Given the description of an element on the screen output the (x, y) to click on. 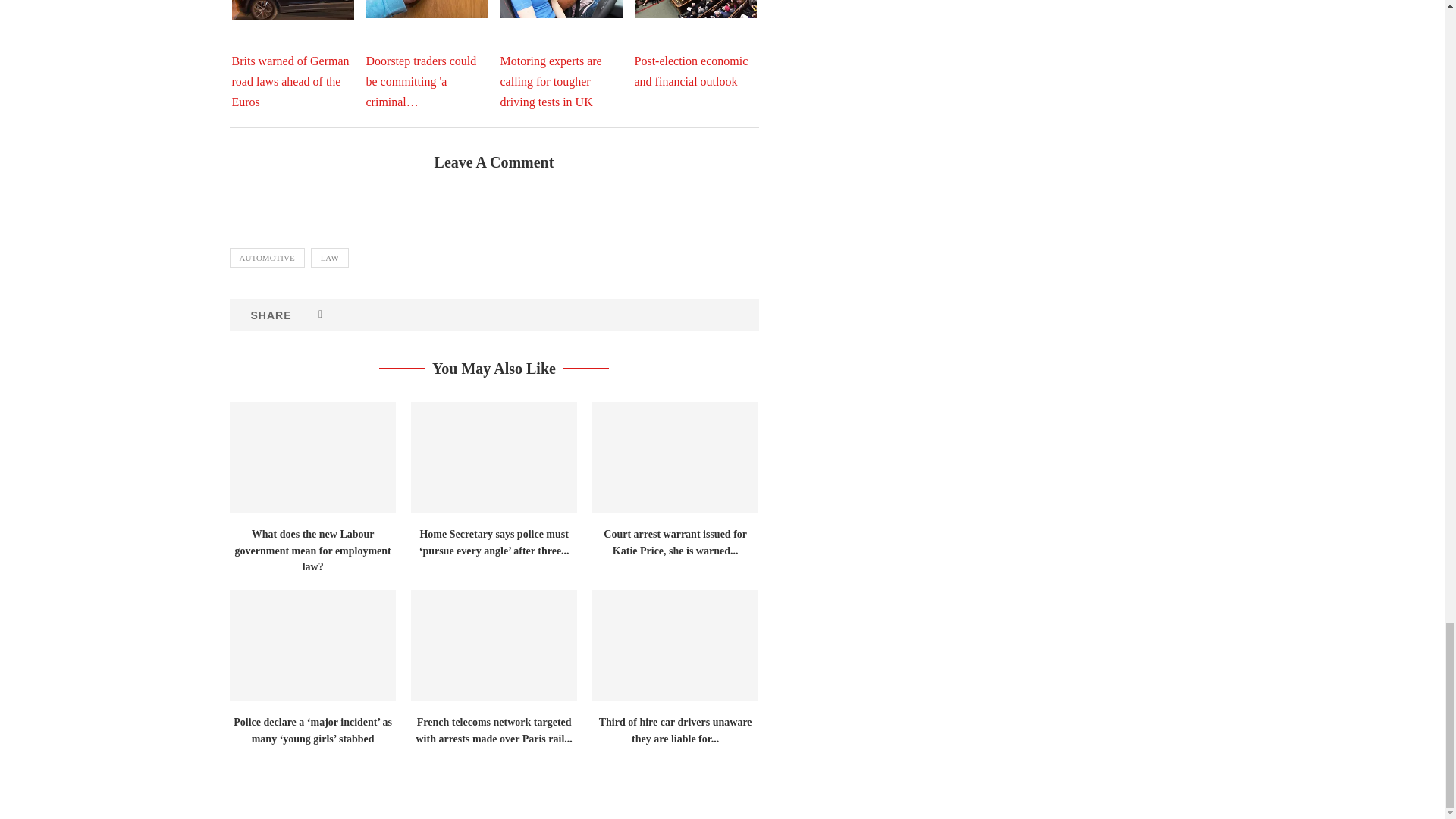
Post-election economic and financial outlook (694, 9)
Motoring experts are calling for tougher driving tests in UK (561, 9)
What does the new Labour government mean for employment law? (311, 457)
Brits warned of German road laws ahead of the Euros (292, 10)
